Given the description of an element on the screen output the (x, y) to click on. 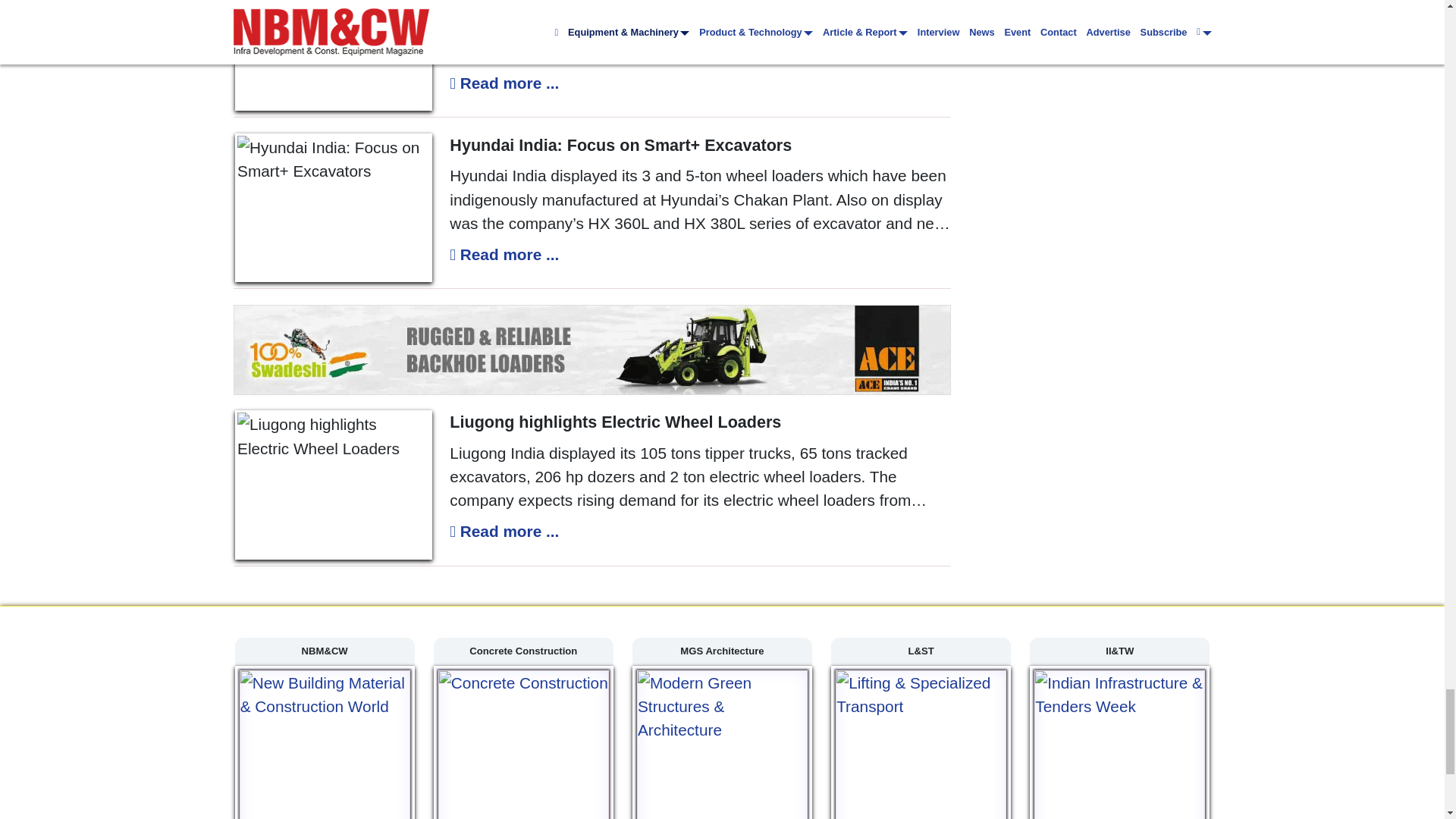
ACE - India's No. 1 CRANE BRAND (591, 349)
